Given the description of an element on the screen output the (x, y) to click on. 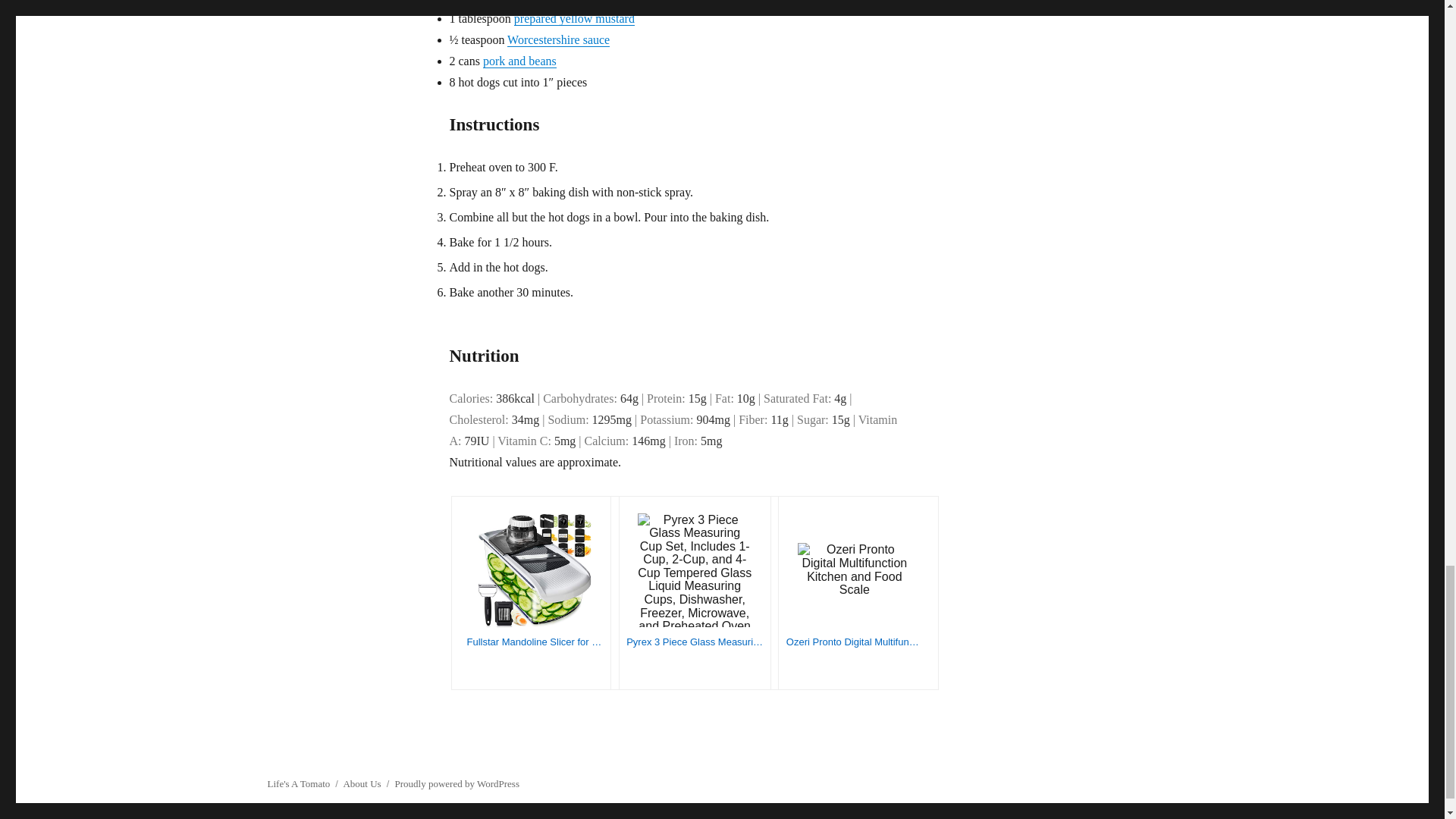
pork and beans (519, 60)
Worcestershire sauce (558, 39)
prepared yellow mustard (573, 18)
brown sugar (548, 2)
Ozeri Pronto Digital Multifunction Kitchen and Food Scale (854, 642)
